Given the description of an element on the screen output the (x, y) to click on. 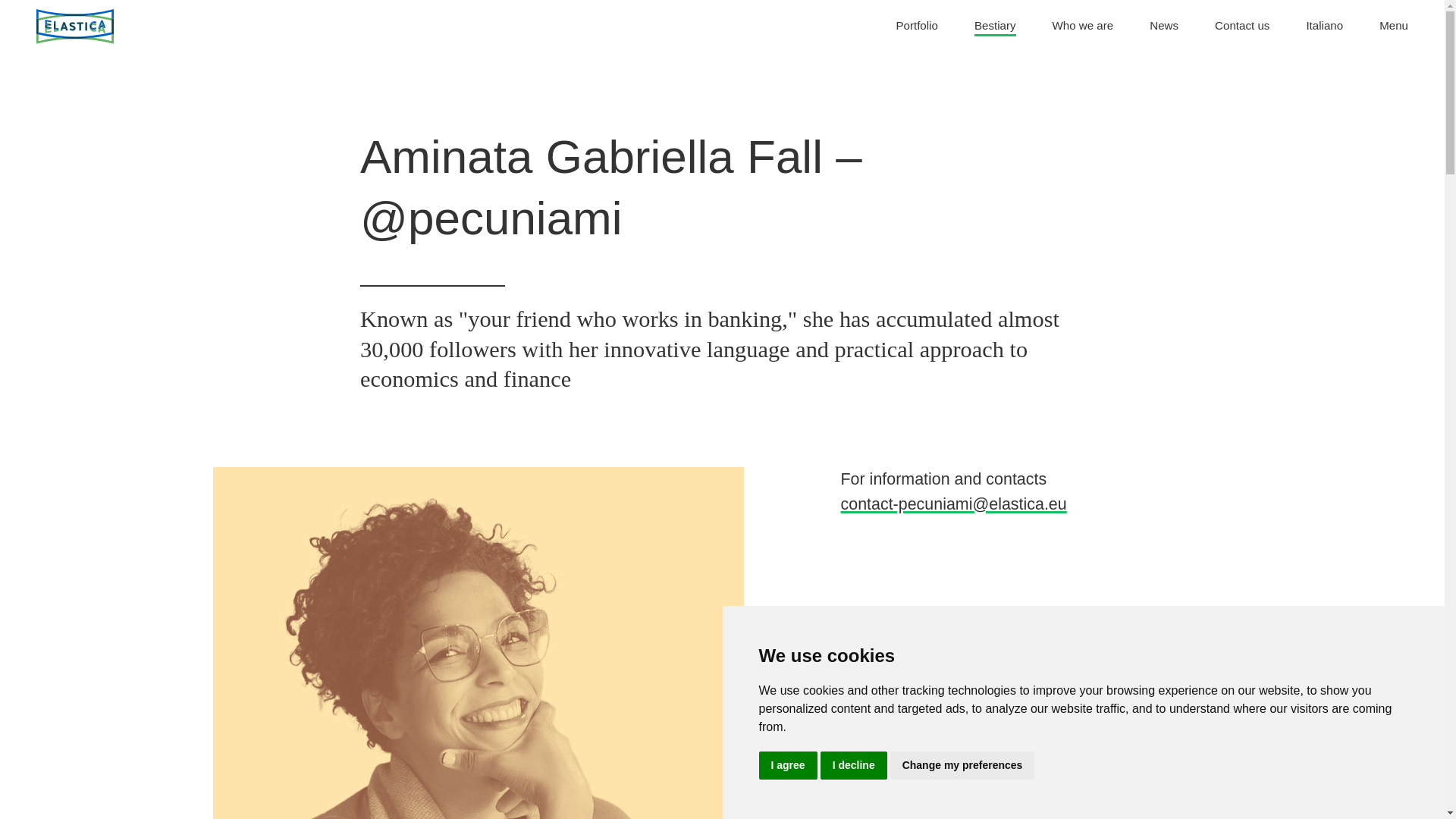
Menu (1392, 26)
I decline (853, 765)
Change my preferences (962, 765)
Contact us (1241, 26)
Portfolio (1324, 26)
Bestiary (916, 26)
Who we are (995, 26)
News (1082, 26)
I agree (1163, 26)
